Given the description of an element on the screen output the (x, y) to click on. 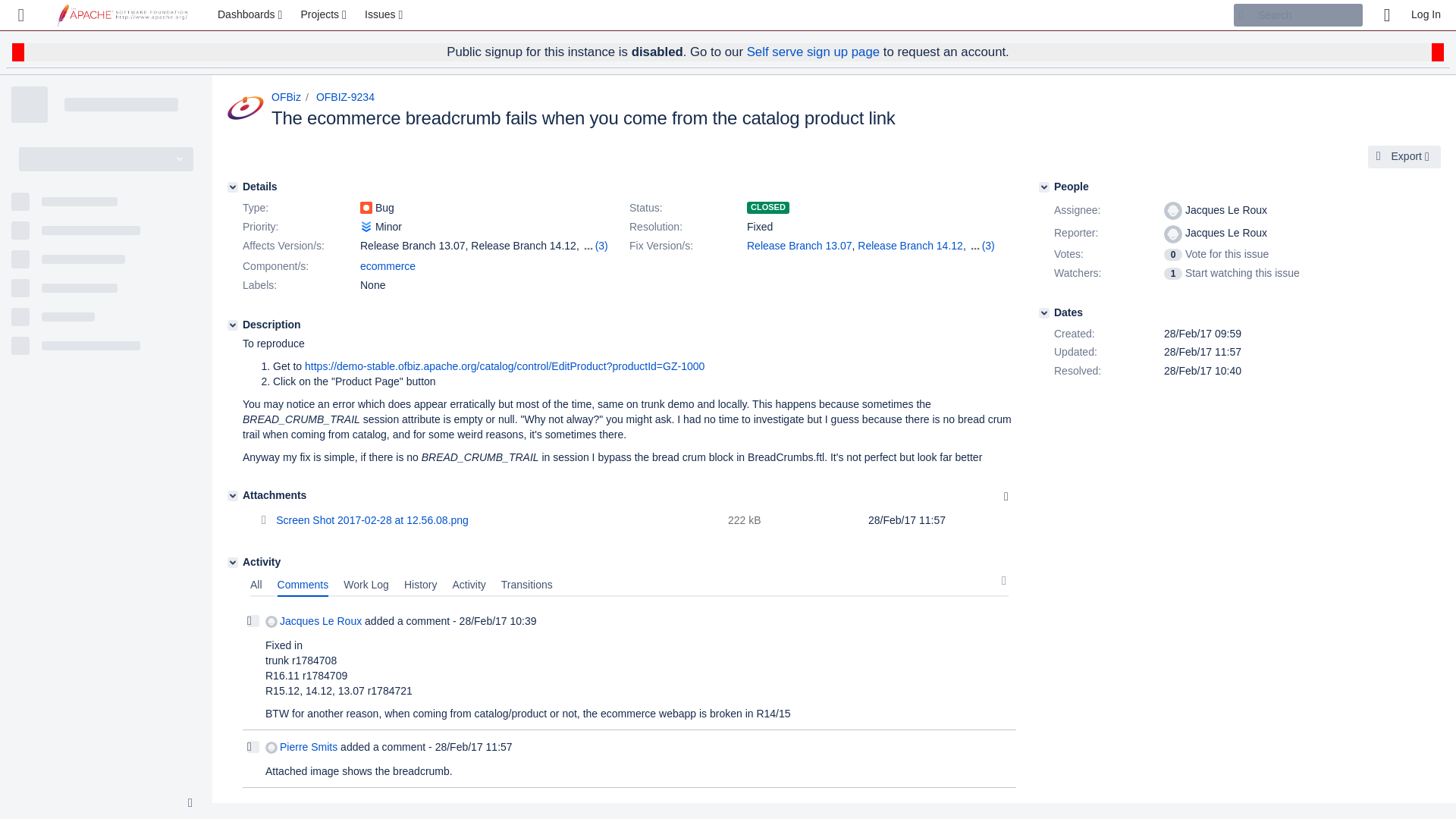
Export (1404, 156)
Self serve sign up page (812, 51)
Release Branch 15.12 (798, 260)
View and manage your dashboards (251, 15)
Projects (324, 15)
Log In (1425, 15)
Release Branch 13.07 (798, 245)
Dashboards (251, 15)
Issues (384, 15)
Release Branch 14.12 (909, 245)
Type (299, 208)
Linked Applications (20, 15)
OFBiz (285, 96)
16.11.02 (878, 260)
OFBIZ-9234 (344, 96)
